Given the description of an element on the screen output the (x, y) to click on. 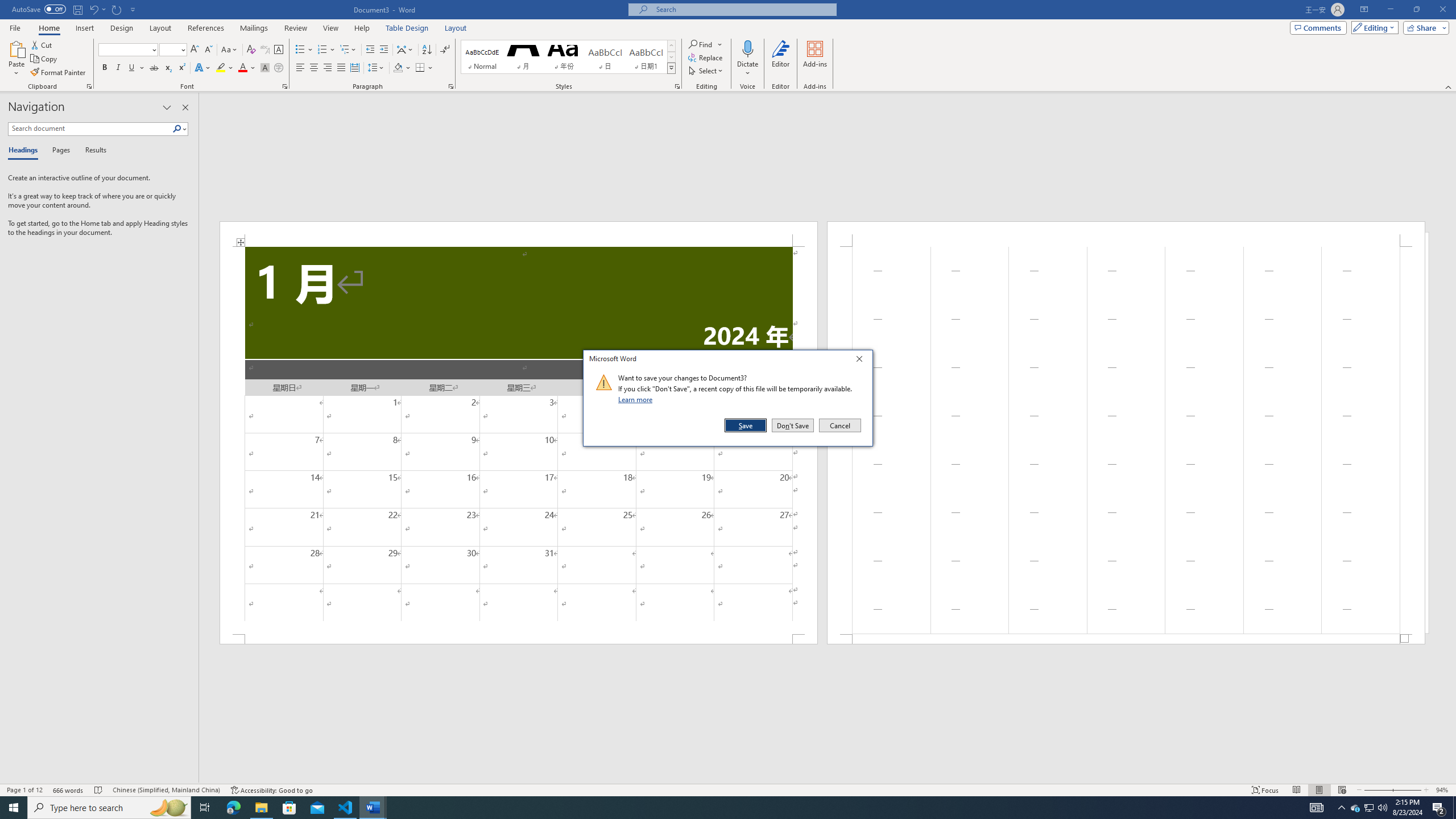
User Promoted Notification Area (1355, 807)
Find (1368, 807)
Text Effects and Typography (700, 44)
Enclose Characters... (202, 67)
Shading (278, 67)
Action Center, 2 new notifications (402, 67)
Italic (1439, 807)
Text Highlight Color Yellow (118, 67)
Align Left (220, 67)
